Given the description of an element on the screen output the (x, y) to click on. 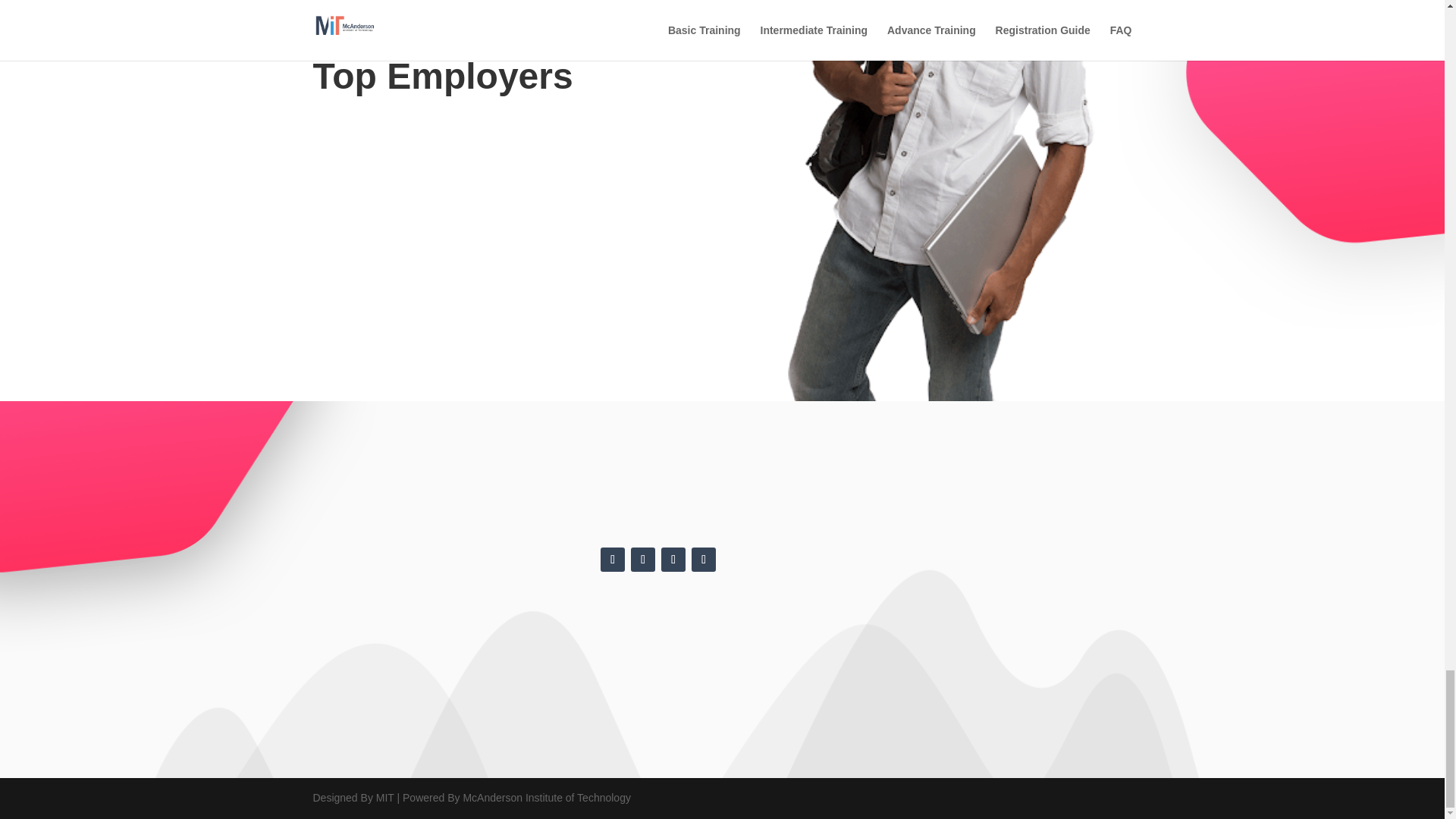
Follow on Facebook (611, 559)
Follow on Instagram (703, 559)
Follow on Twitter (642, 559)
Follow on LinkedIn (673, 559)
